Given the description of an element on the screen output the (x, y) to click on. 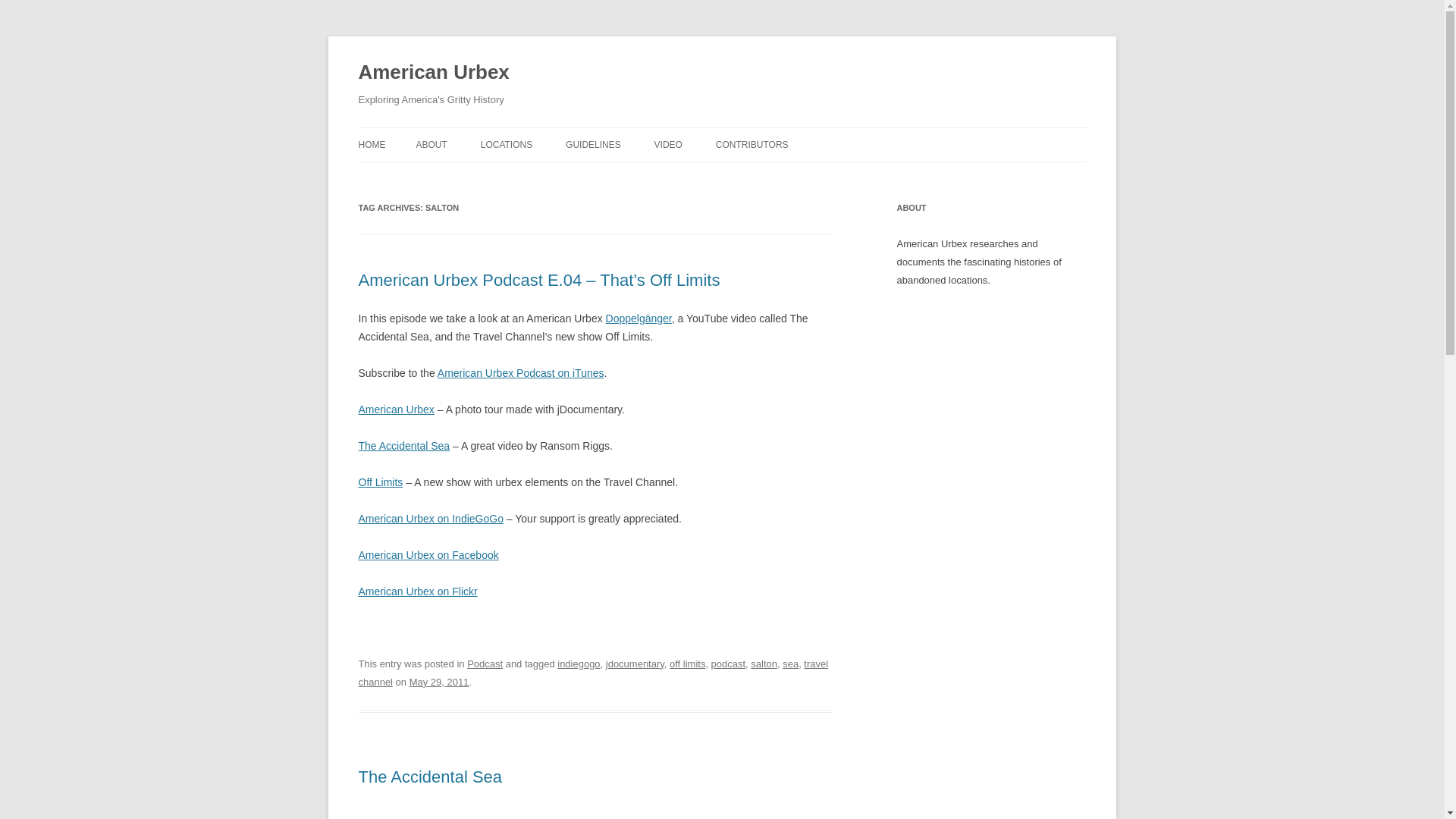
CONTRIBUTORS (752, 144)
American Urbex (395, 409)
Skip to content (757, 132)
American Urbex on iTunes (521, 372)
American Urbex on Flickcr (417, 591)
Off Limits (380, 481)
The Accidental Sea (403, 445)
travel channel (593, 672)
American Urbex on IndieGoGo (430, 518)
American Urbex on Facebook (427, 554)
podcast (728, 663)
The Accidental Sea (430, 776)
Doppelgaenger (638, 318)
ABOUT (430, 144)
LOCATIONS (506, 144)
